Given the description of an element on the screen output the (x, y) to click on. 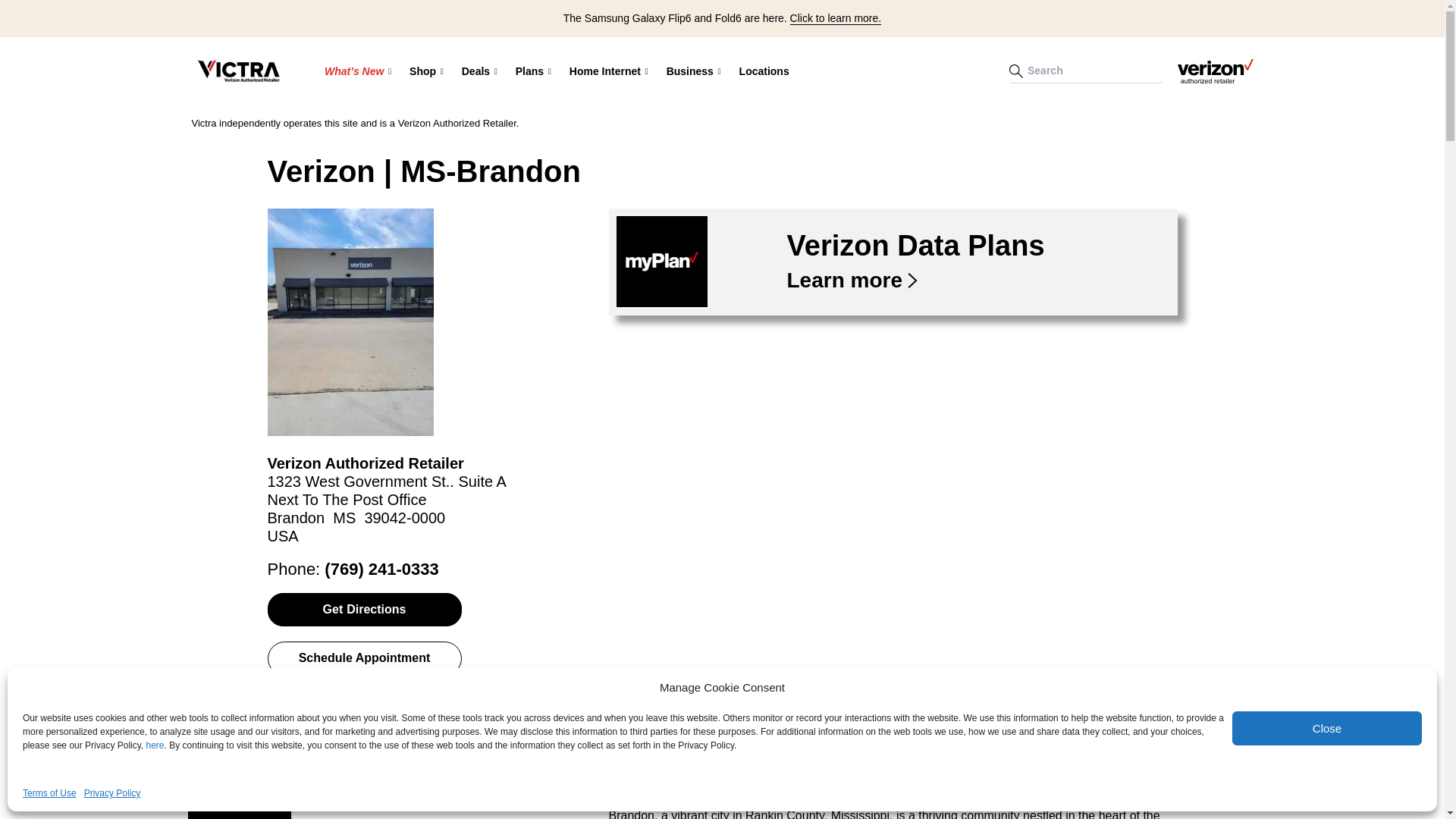
Plans (533, 70)
Apple iPhone 15 Series (424, 121)
Apple (510, 122)
Shop (426, 70)
Privacy Policy (112, 793)
Deals (479, 70)
Mobile (615, 122)
Click to learn more. (836, 18)
Apple (561, 122)
Close (1326, 728)
here (155, 745)
Terms of Use (50, 793)
All Devices (510, 121)
Accessories (561, 121)
